Given the description of an element on the screen output the (x, y) to click on. 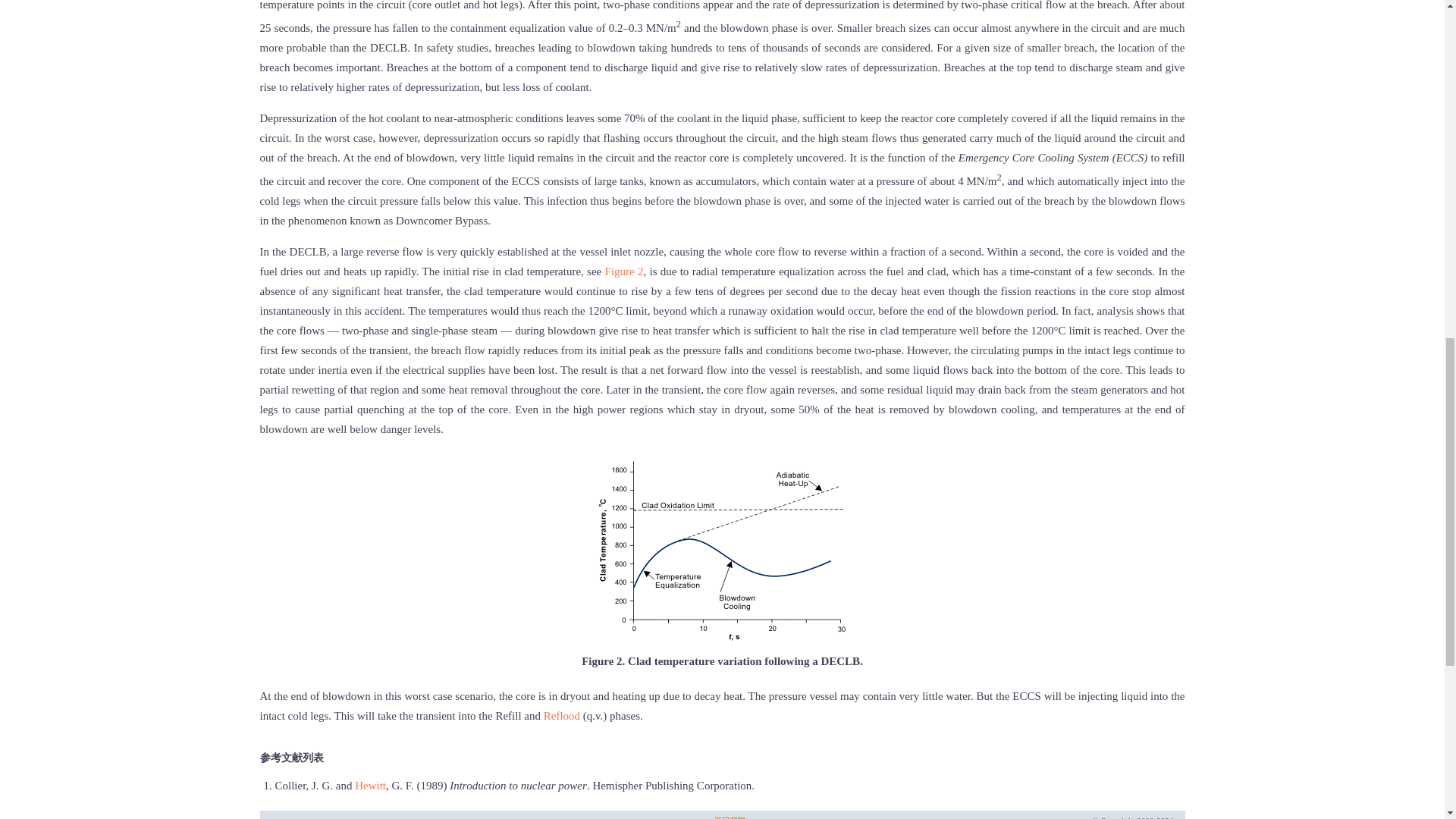
REFLOOD (561, 715)
Figure 2 (624, 271)
Reflood (561, 715)
Hewitt (370, 785)
